Given the description of an element on the screen output the (x, y) to click on. 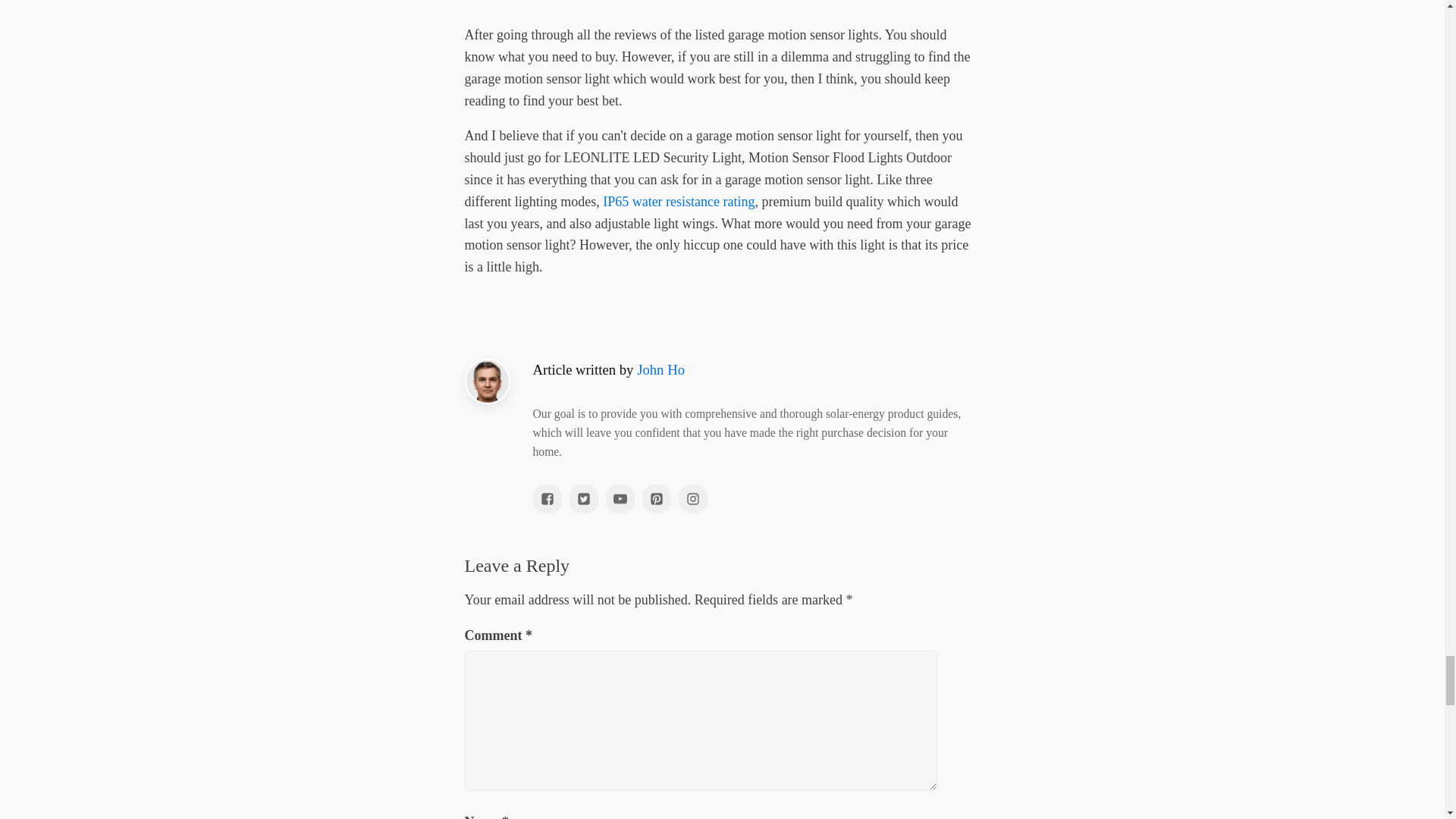
John Ho (660, 369)
IP65 water resistance rating (678, 201)
